Given the description of an element on the screen output the (x, y) to click on. 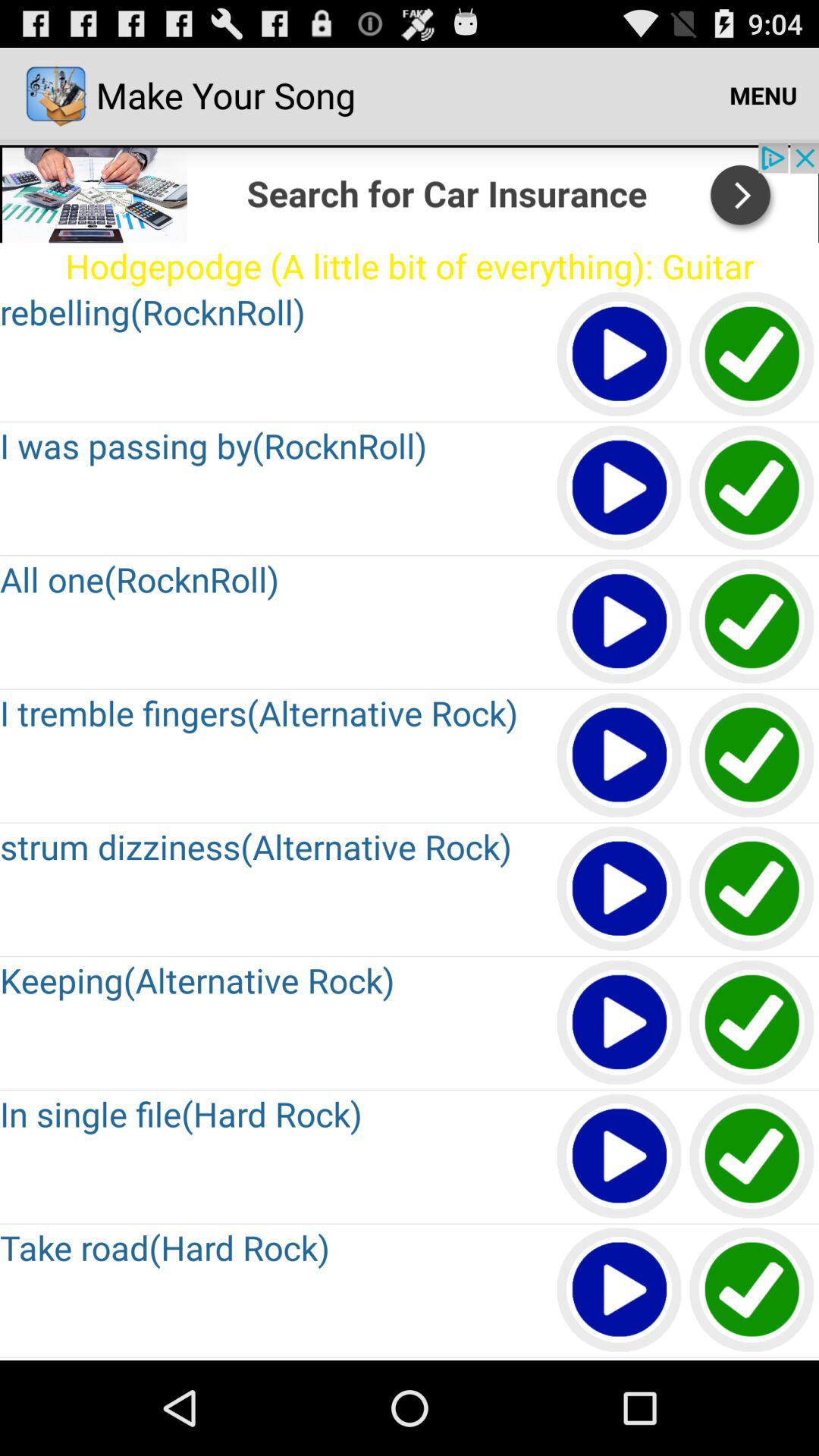
go to play (619, 488)
